Given the description of an element on the screen output the (x, y) to click on. 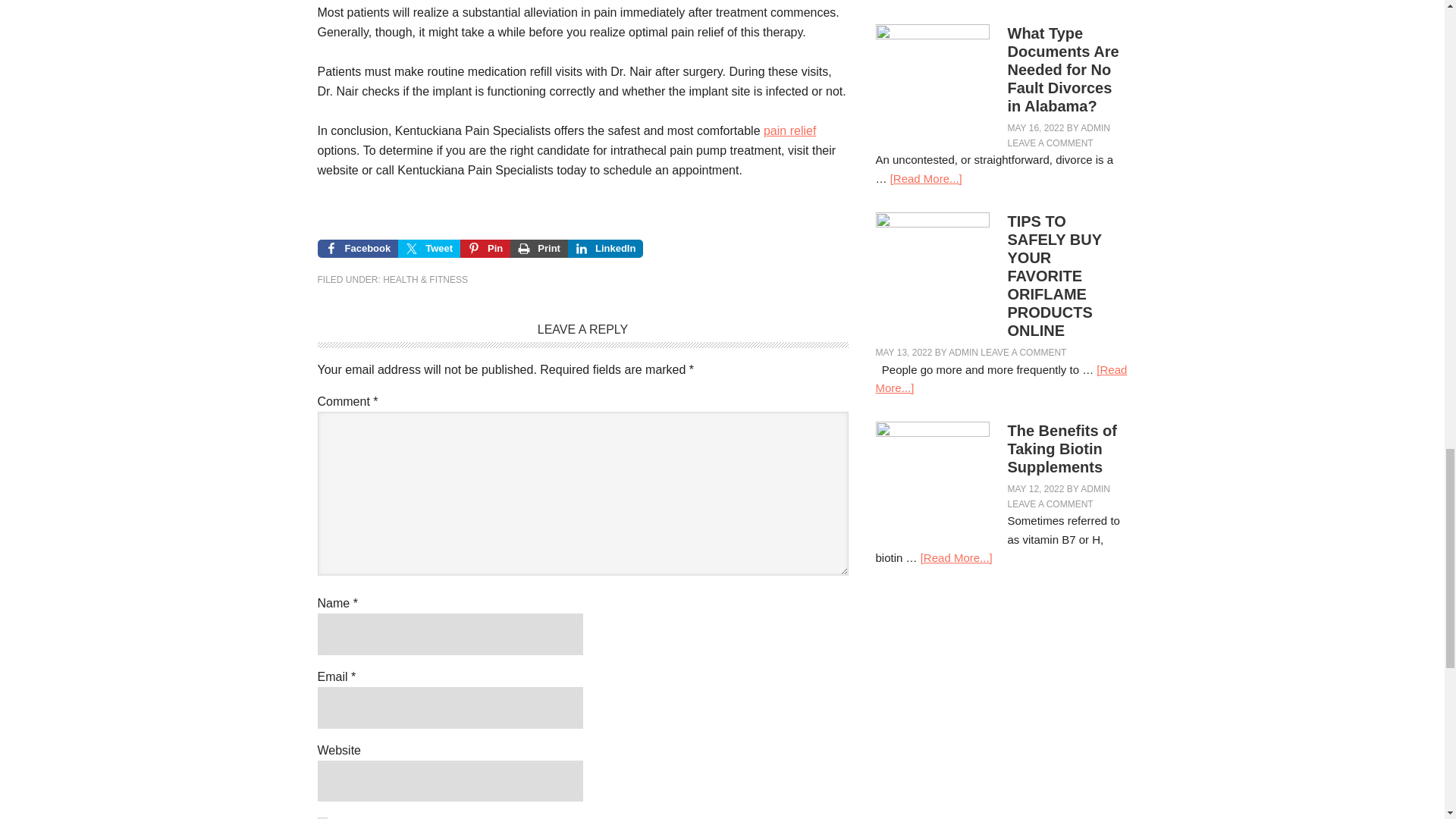
Share on Facebook (357, 248)
Tweet (428, 248)
Print (539, 248)
Print this Page (539, 248)
Share on LinkedIn (605, 248)
Share on Twitter (428, 248)
pain relief (788, 130)
Facebook (357, 248)
Pin (485, 248)
